Given the description of an element on the screen output the (x, y) to click on. 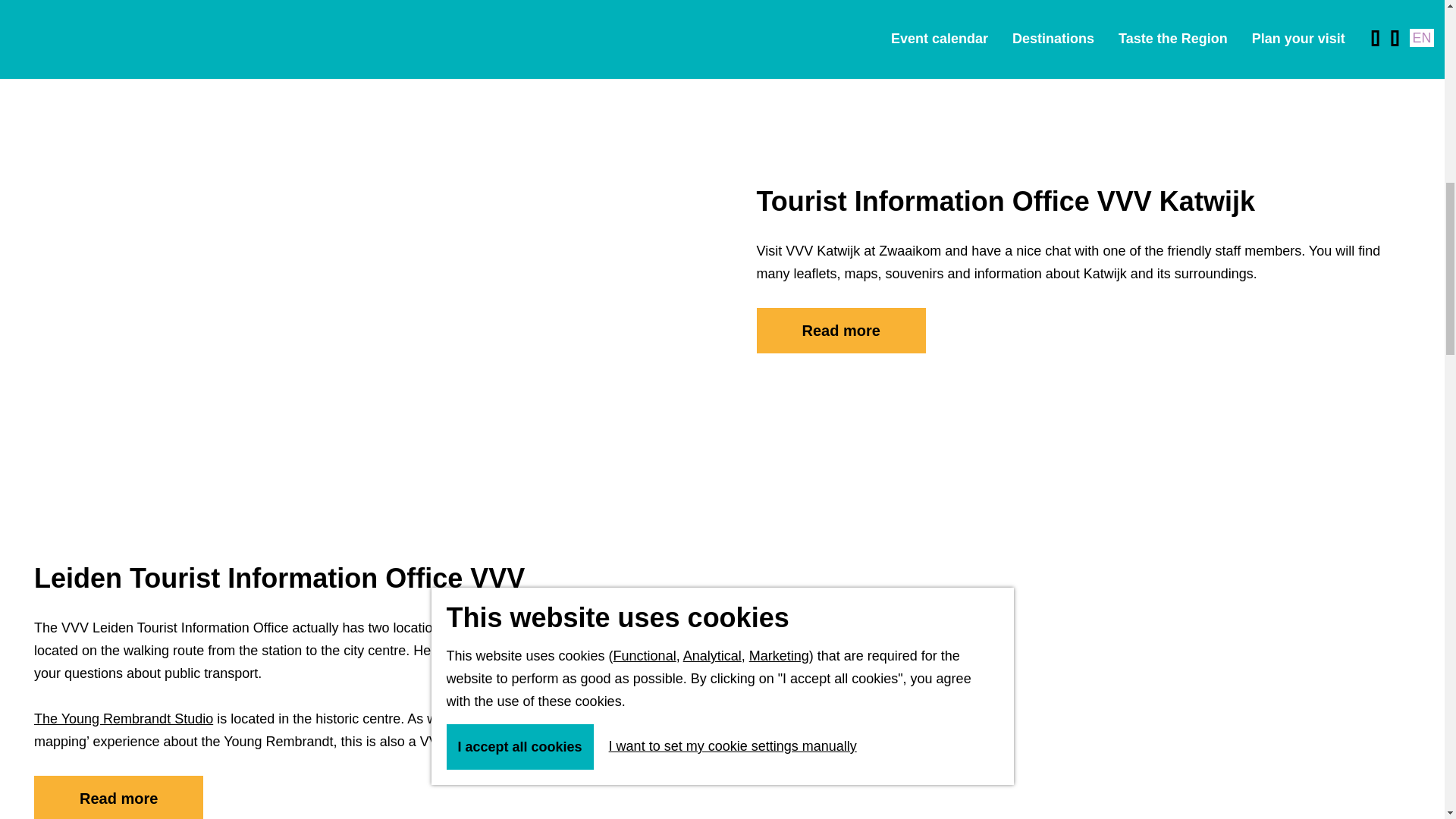
The Young Rembrandt Studio (122, 718)
Read more (118, 796)
Read more (841, 329)
